Given the description of an element on the screen output the (x, y) to click on. 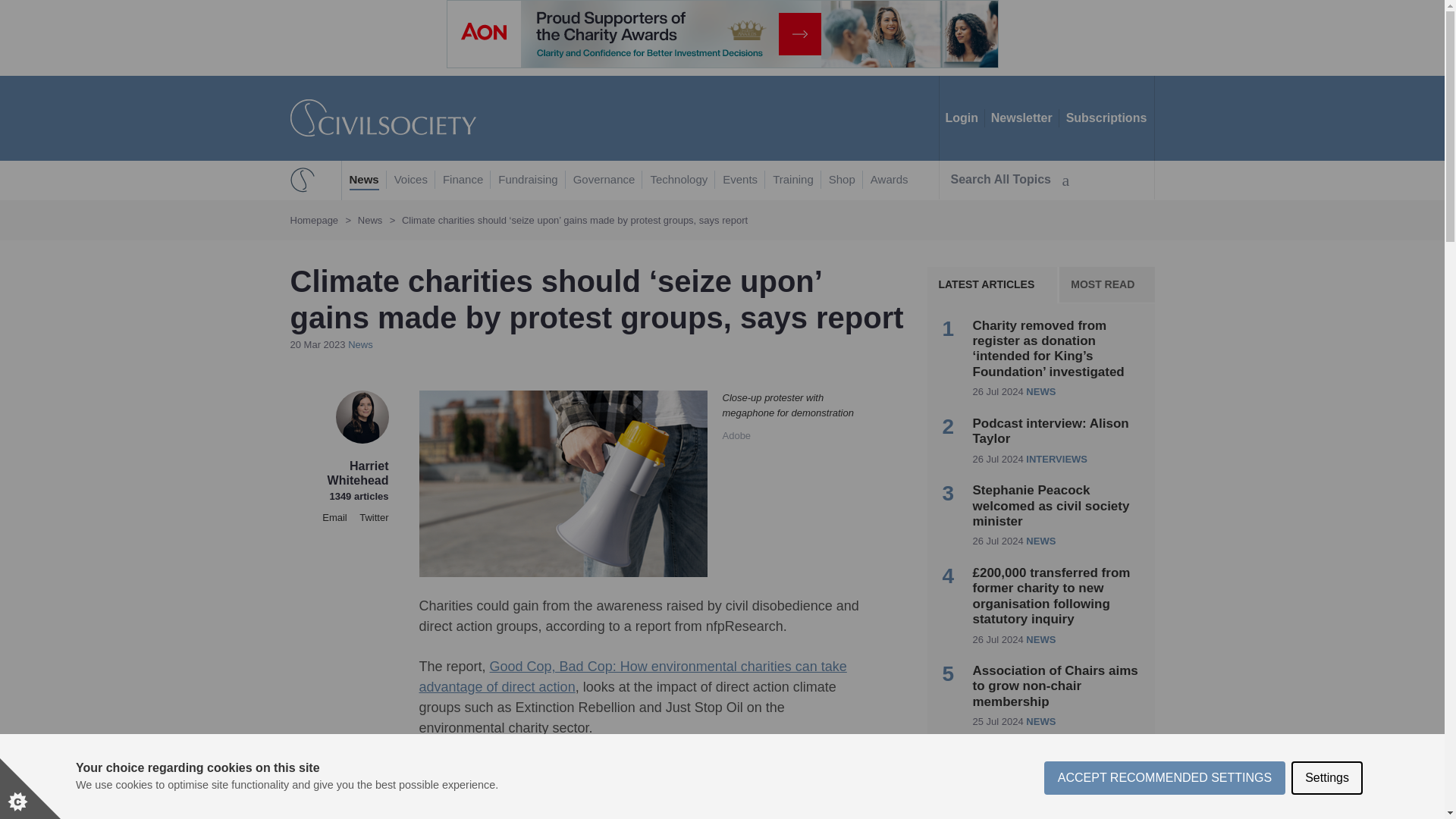
Awards (889, 180)
Search All Topics (1009, 179)
Governance (603, 180)
Homepage (313, 220)
Voices (411, 180)
Events (739, 180)
News (363, 180)
News (370, 220)
Fundraising (527, 180)
Subscriptions (1105, 118)
Login (961, 118)
Finance (462, 180)
Training (793, 180)
Newsletter (1021, 118)
